Given the description of an element on the screen output the (x, y) to click on. 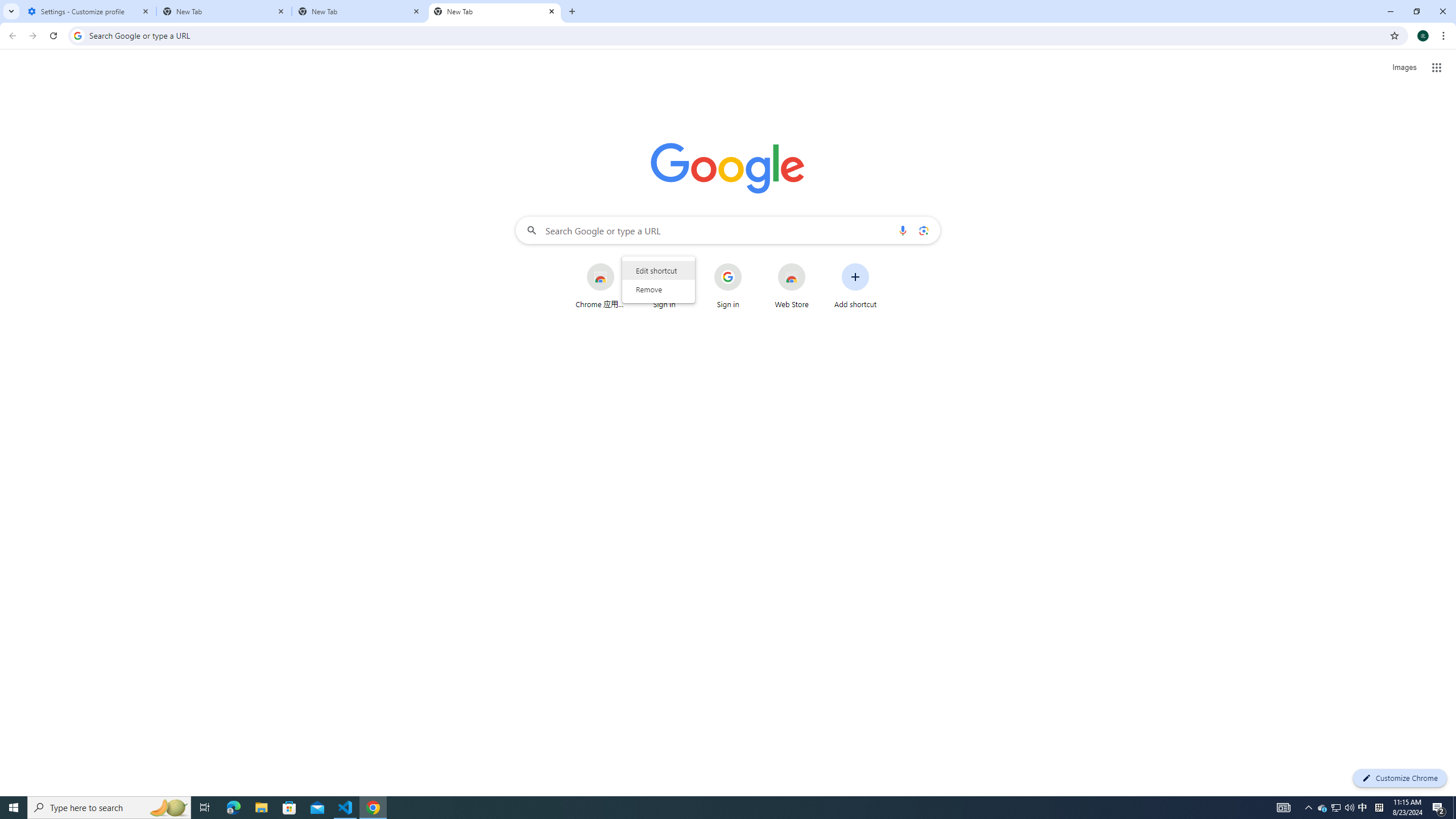
Search icon (77, 35)
Edit shortcut (657, 270)
Settings - Customize profile (88, 11)
New Tab (224, 11)
New Tab (359, 11)
New Tab (494, 11)
